Given the description of an element on the screen output the (x, y) to click on. 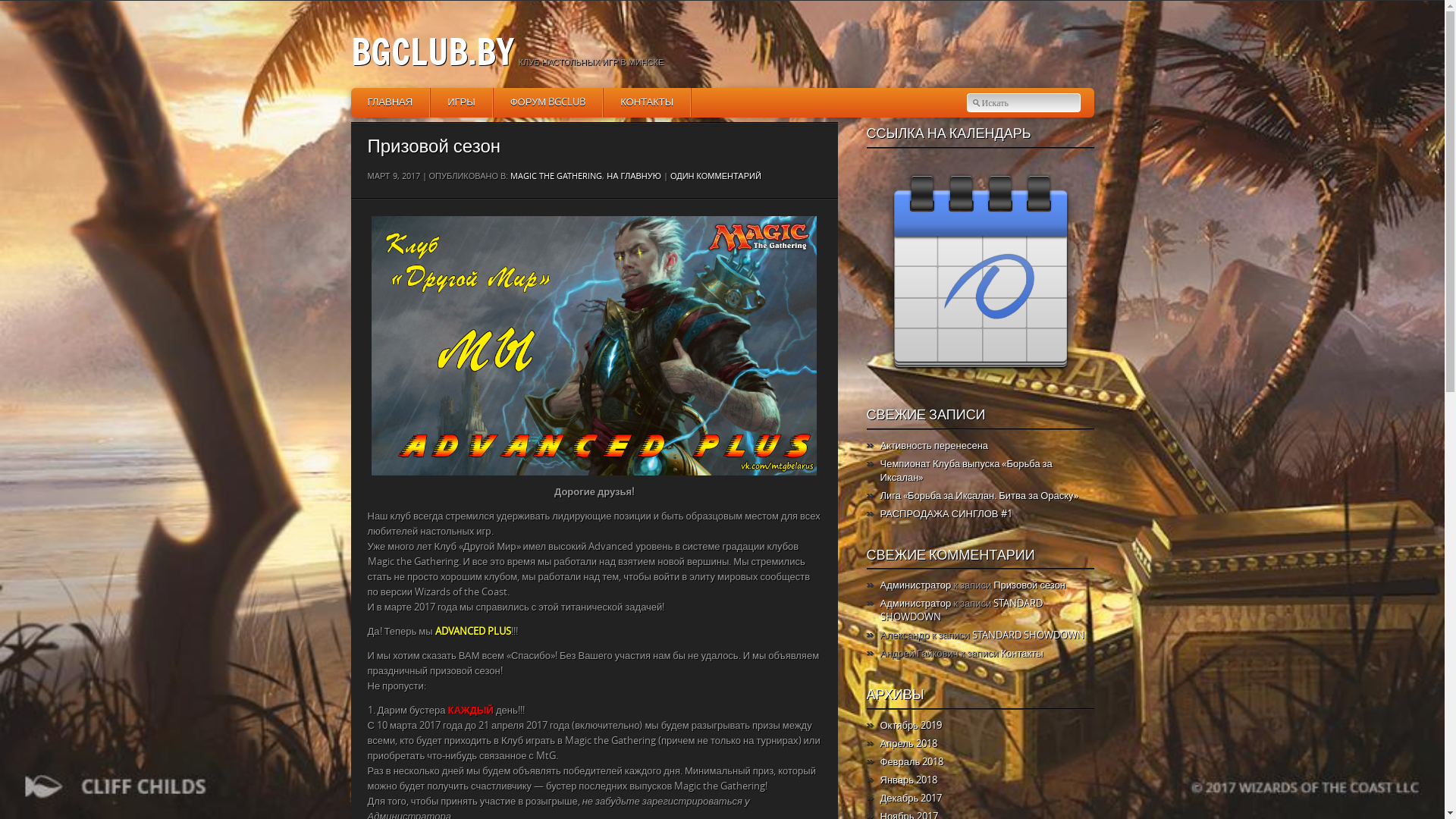
STANDARD SHOWDOWN Element type: text (960, 610)
MAGIC THE GATHERING Element type: text (556, 176)
BGCLUB.BY Element type: text (431, 51)
STANDARD SHOWDOWN Element type: text (1028, 635)
